Given the description of an element on the screen output the (x, y) to click on. 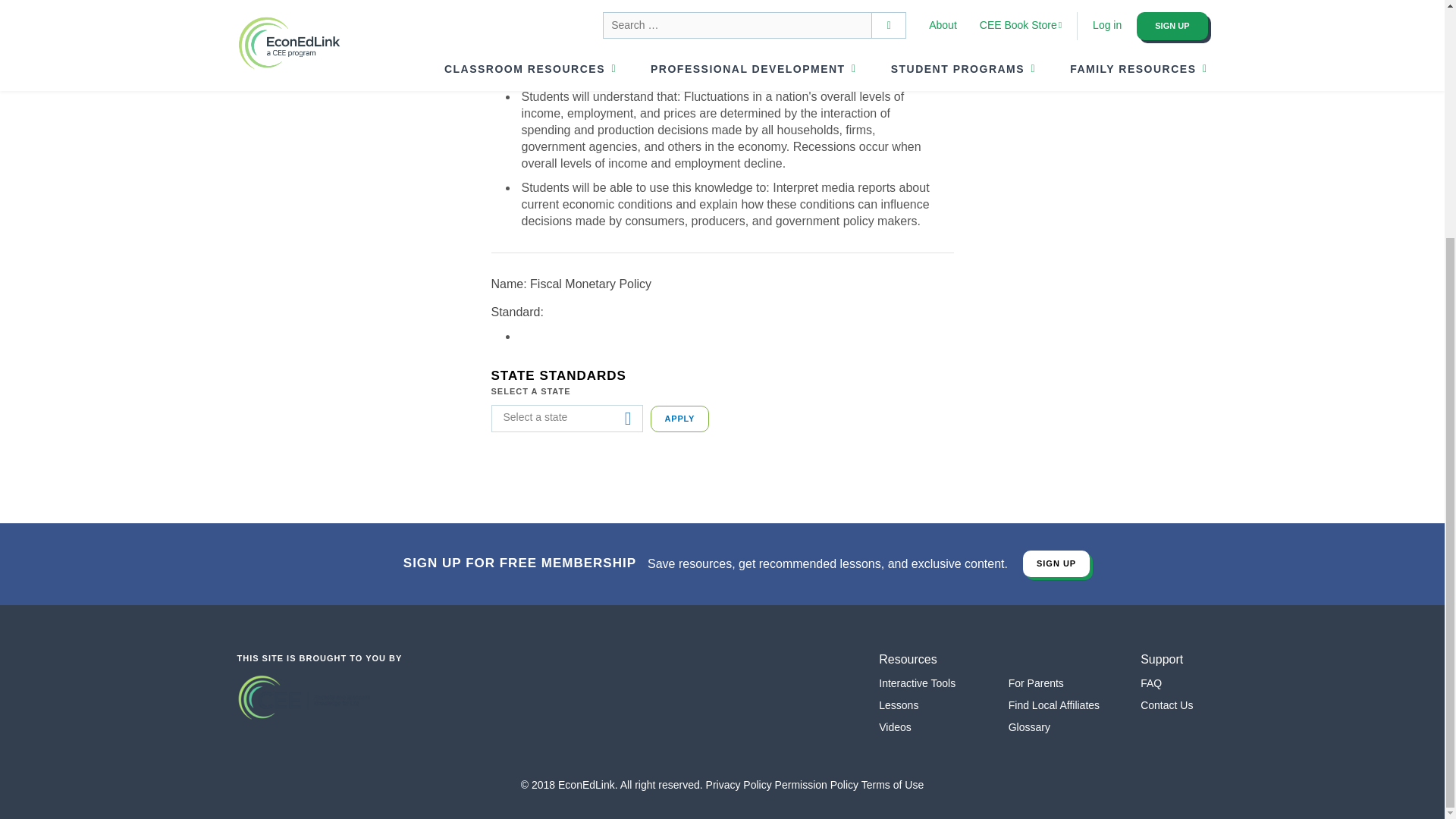
Help widget launcher (1368, 458)
